Given the description of an element on the screen output the (x, y) to click on. 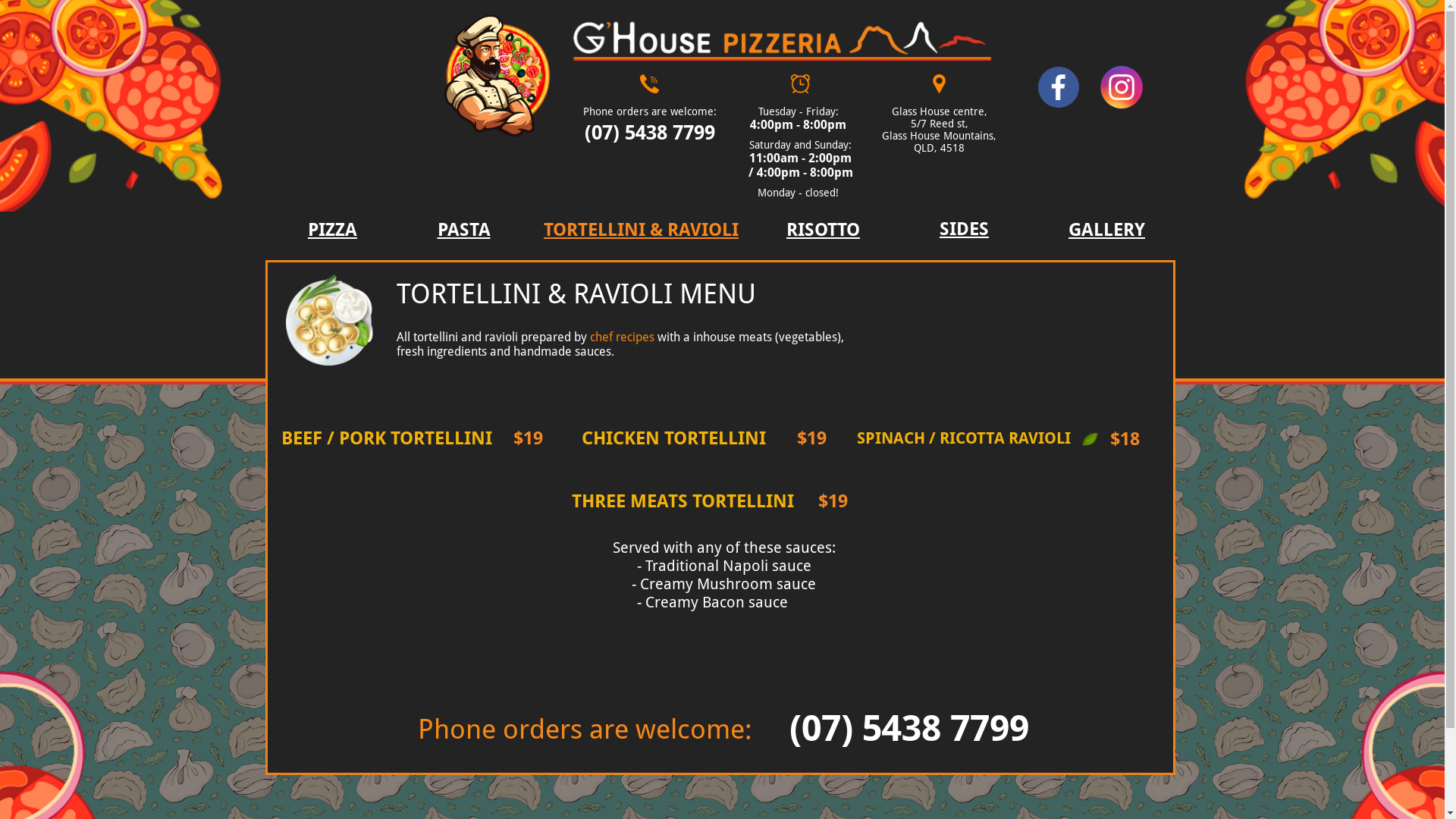
GALLERY Element type: text (1105, 230)
RISOTTO Element type: text (822, 230)
PIZZA Element type: text (331, 230)
PASTA Element type: text (463, 230)
SIDES Element type: text (963, 229)
TORTELLINI & RAVIOLI Element type: text (640, 230)
